Given the description of an element on the screen output the (x, y) to click on. 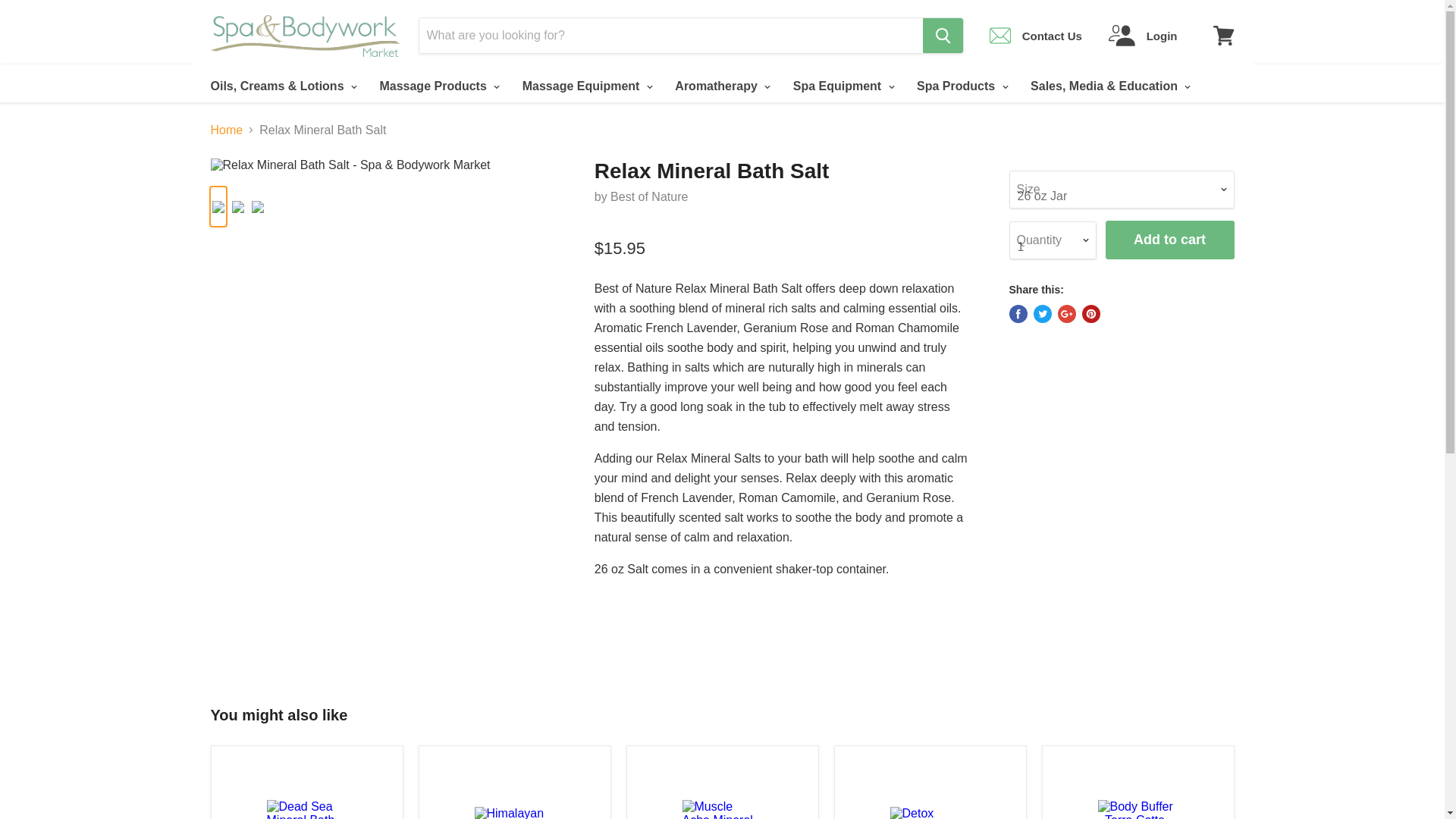
Login (1142, 35)
Massage Equipment (586, 86)
Massage Products (437, 86)
Contact Us (1035, 35)
View cart (1223, 35)
